Given the description of an element on the screen output the (x, y) to click on. 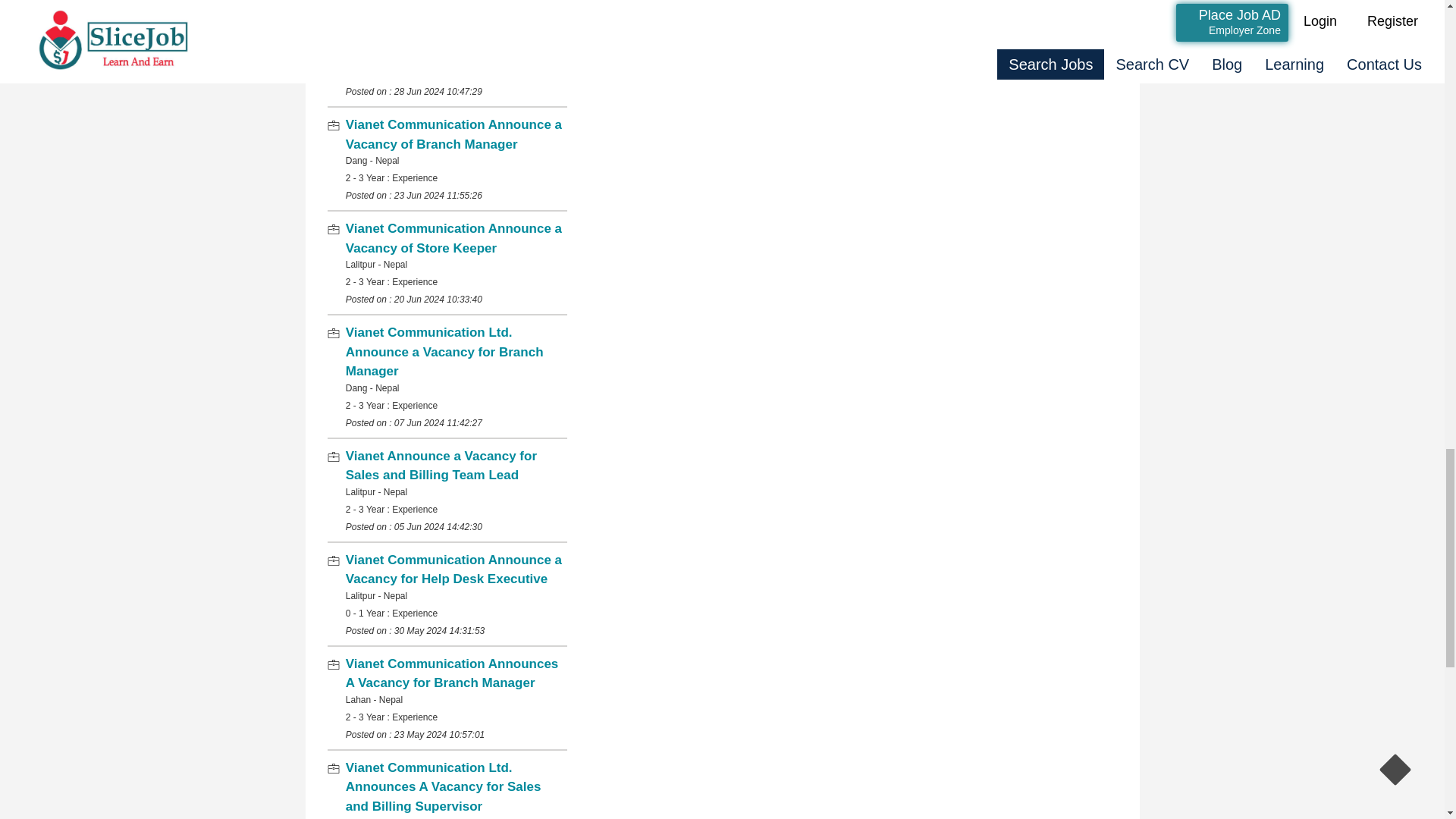
Vianet Communication Announce a Vacancy for SNMU Executives (454, 30)
Vianet Communication Announces A Vacancy for Branch Manager (452, 673)
Vianet Announce a Vacancy for Sales and Billing Team Lead (441, 465)
Vianet Communication Announce a Vacancy of Branch Manager (454, 134)
Vianet Communication Announce a Vacancy of Store Keeper (454, 238)
